Given the description of an element on the screen output the (x, y) to click on. 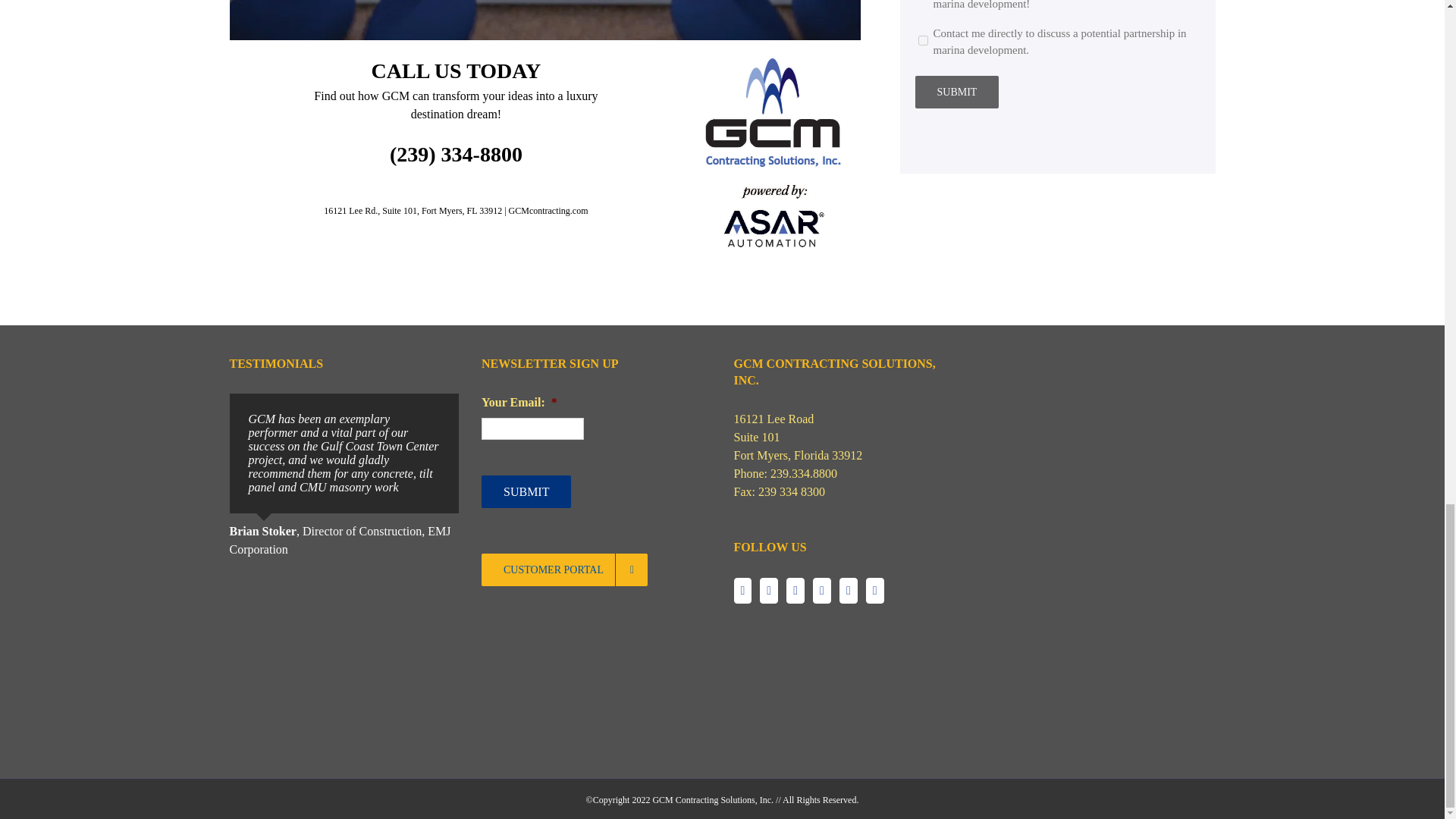
Submit (956, 92)
Submit (525, 491)
